Given the description of an element on the screen output the (x, y) to click on. 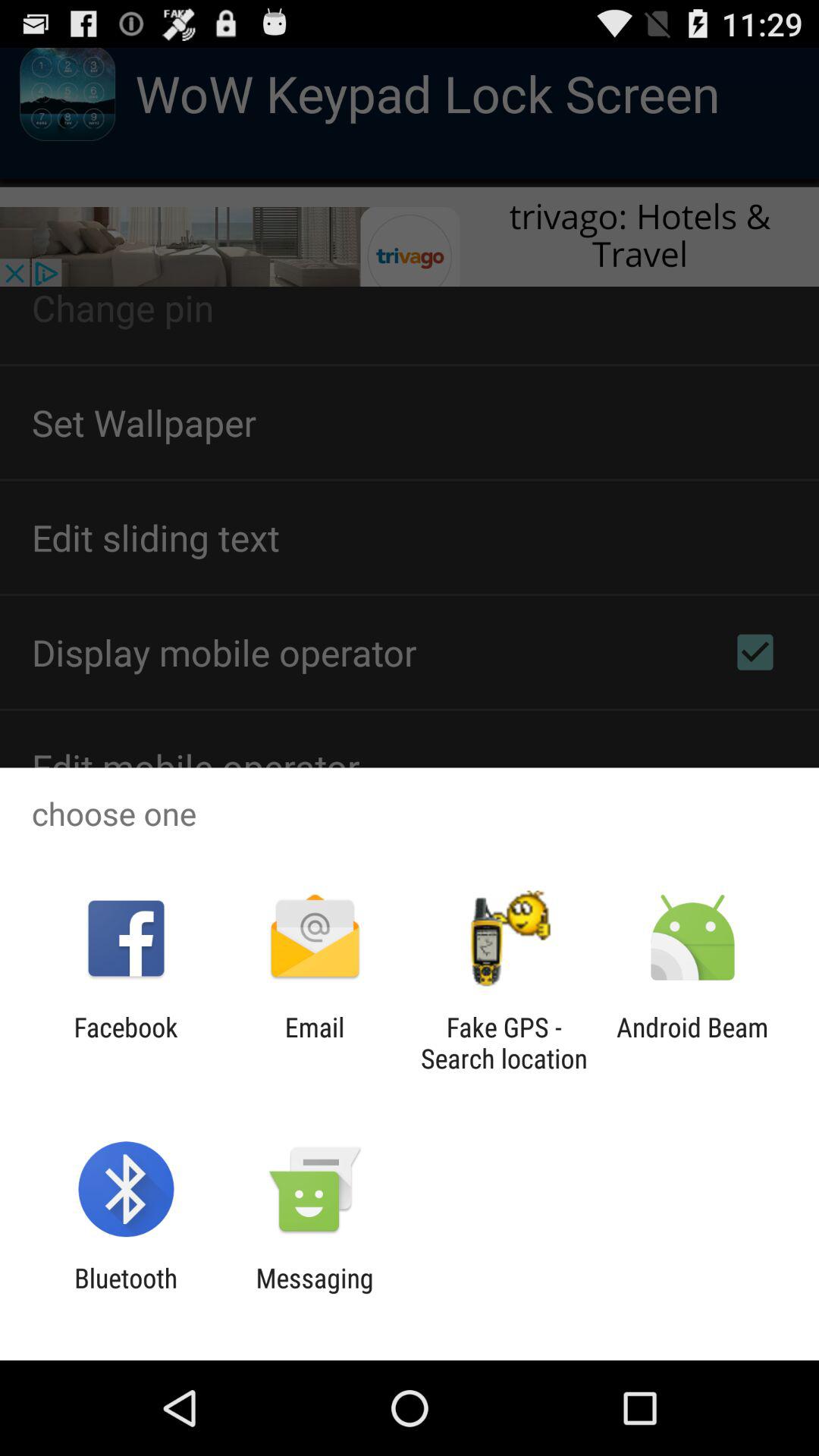
click icon next to the email icon (503, 1042)
